Given the description of an element on the screen output the (x, y) to click on. 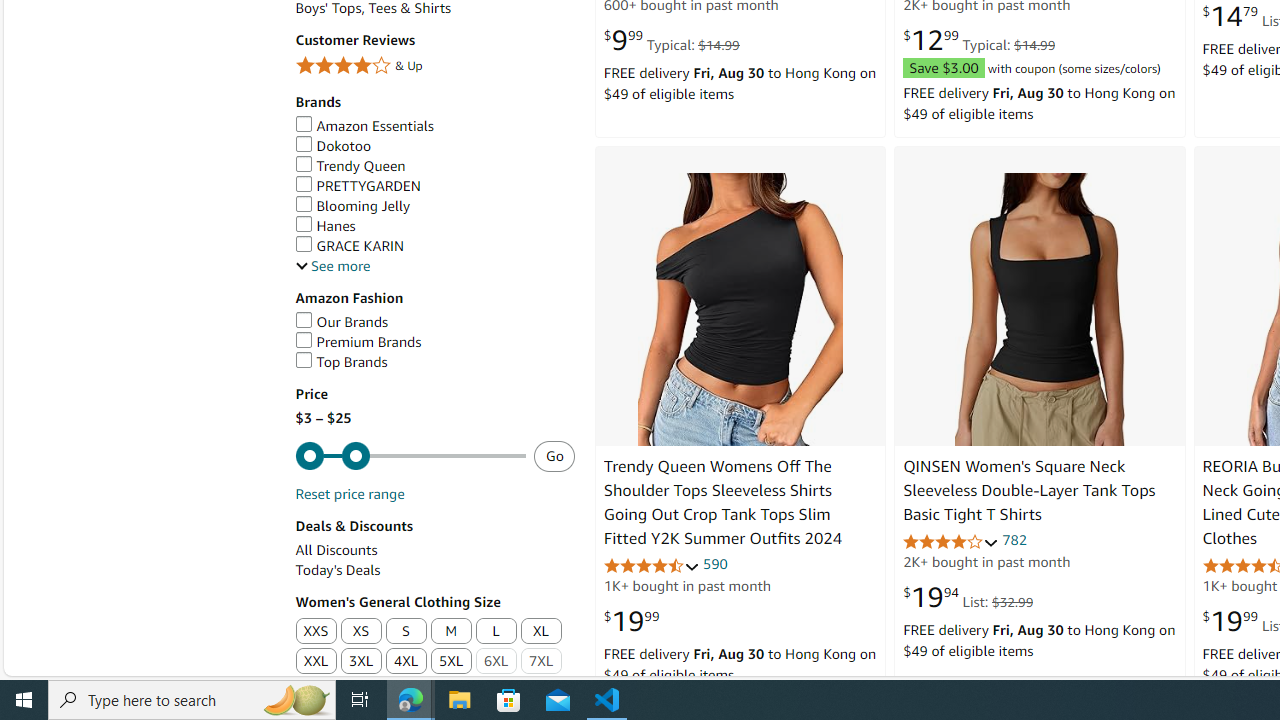
5XL (451, 661)
4XL (406, 662)
Blooming Jelly (352, 205)
3XL (360, 661)
Amazon Essentials (363, 125)
S (406, 632)
Today's Deals (337, 570)
Premium Brands (434, 342)
XXS (315, 631)
All Discounts (434, 550)
Reset price range (349, 494)
XS (360, 632)
S (406, 631)
